Given the description of an element on the screen output the (x, y) to click on. 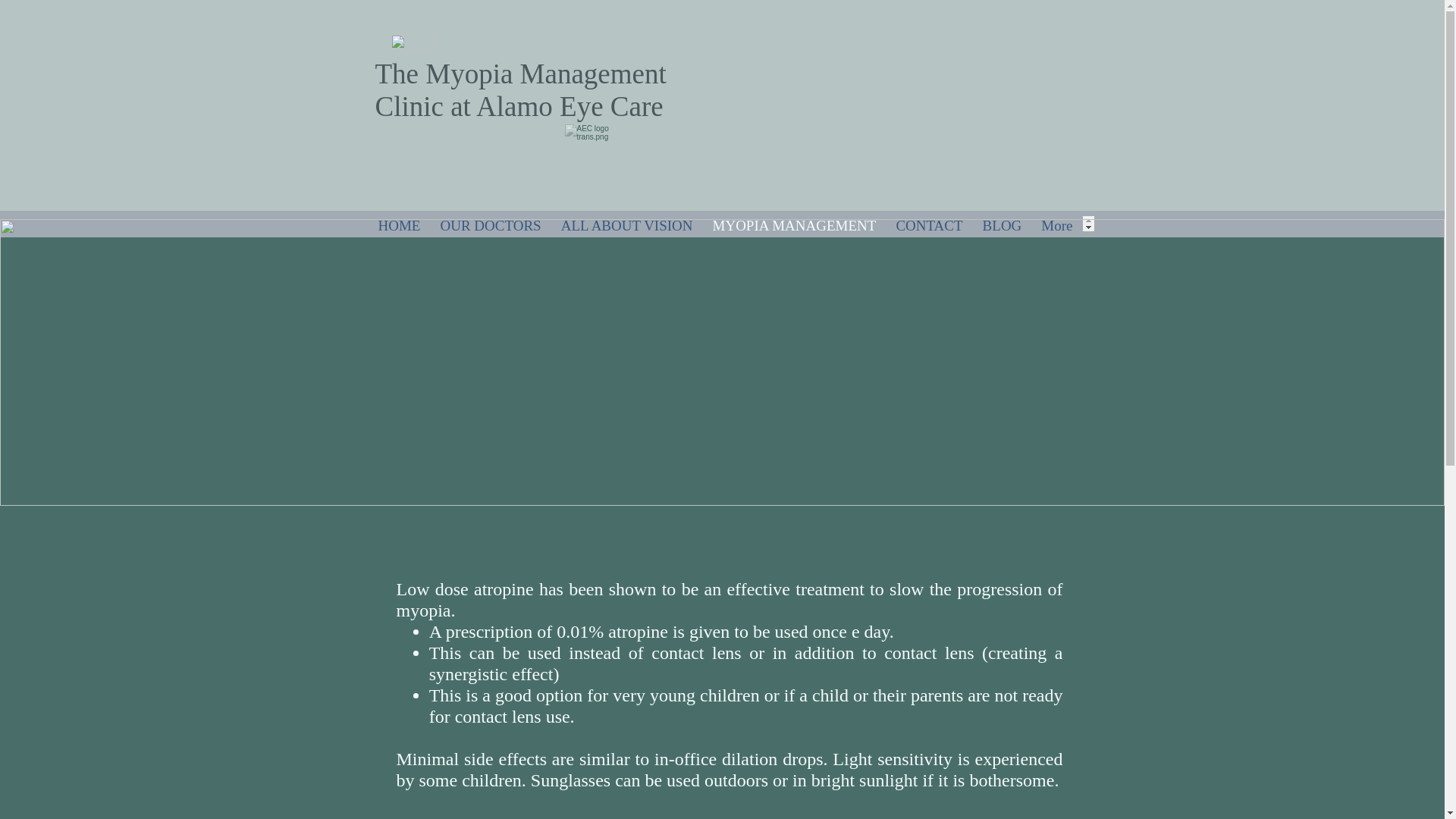
MYOPIA MANAGEMENT (794, 223)
ALL ABOUT VISION (627, 223)
OUR DOCTORS (489, 223)
The Myopia Management Clinic at Alamo Eye Care (519, 90)
HOME (399, 223)
BLOG (1002, 223)
CONTACT (928, 223)
